Given the description of an element on the screen output the (x, y) to click on. 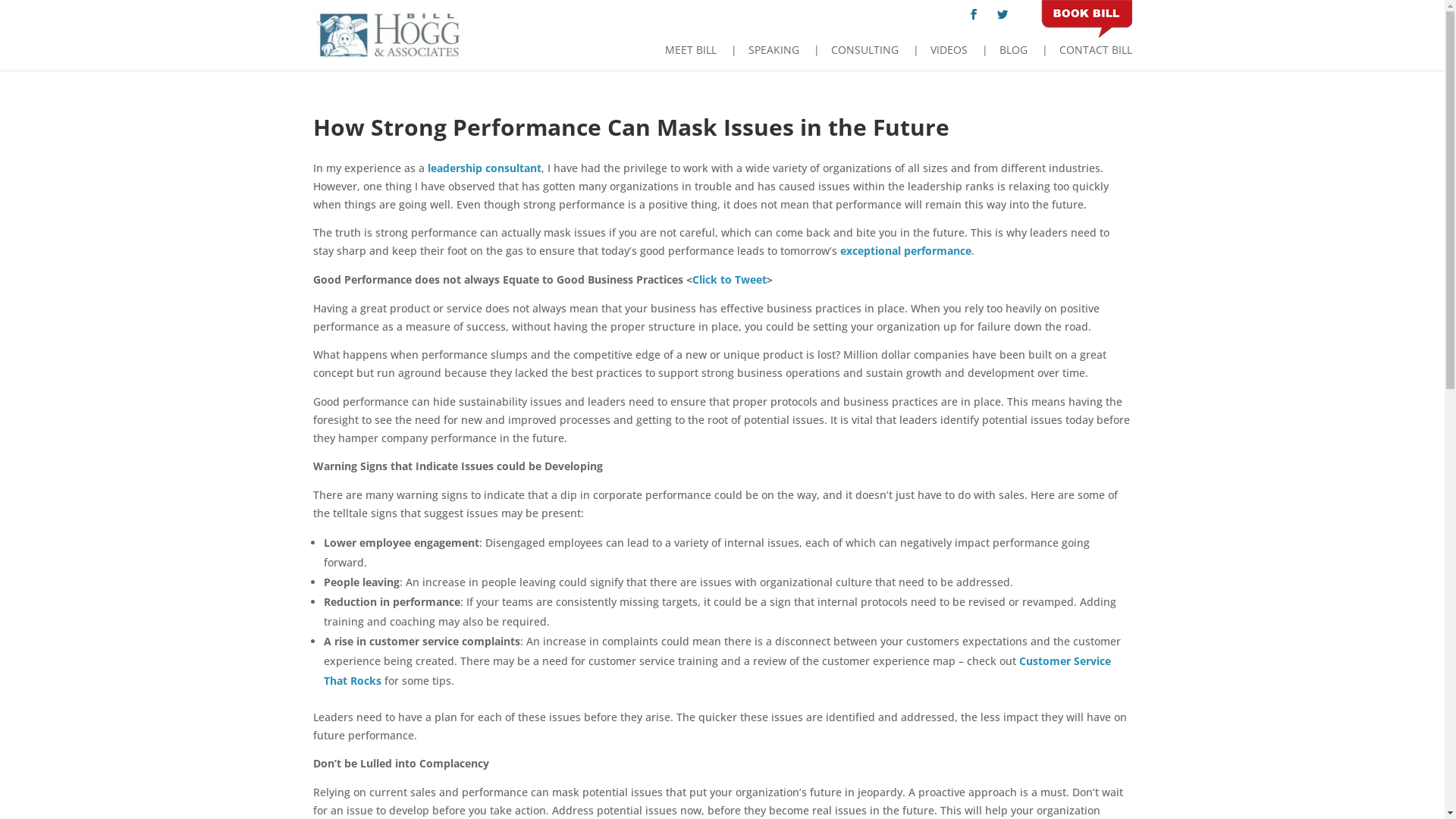
exceptional performance Element type: text (905, 250)
VIDEOS Element type: text (933, 56)
SPEAKING Element type: text (758, 56)
leadership consultant Element type: text (484, 167)
Customer Service That Rocks Element type: text (716, 670)
MEET BILL Element type: text (689, 56)
CONSULTING Element type: text (850, 56)
BLOG Element type: text (998, 56)
CONTACT BILL Element type: text (1080, 56)
Click to Tweet Element type: text (728, 279)
